Given the description of an element on the screen output the (x, y) to click on. 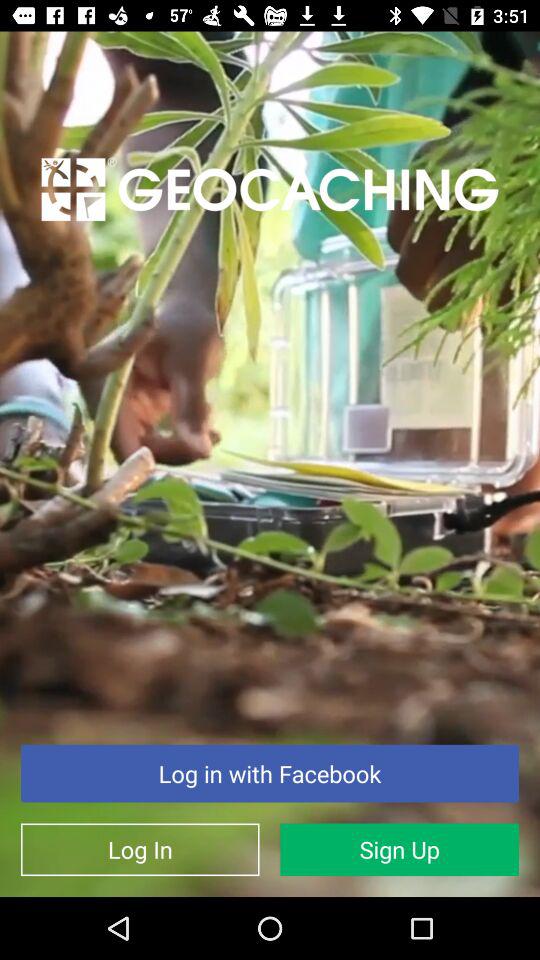
turn on icon to the right of log in item (399, 849)
